Given the description of an element on the screen output the (x, y) to click on. 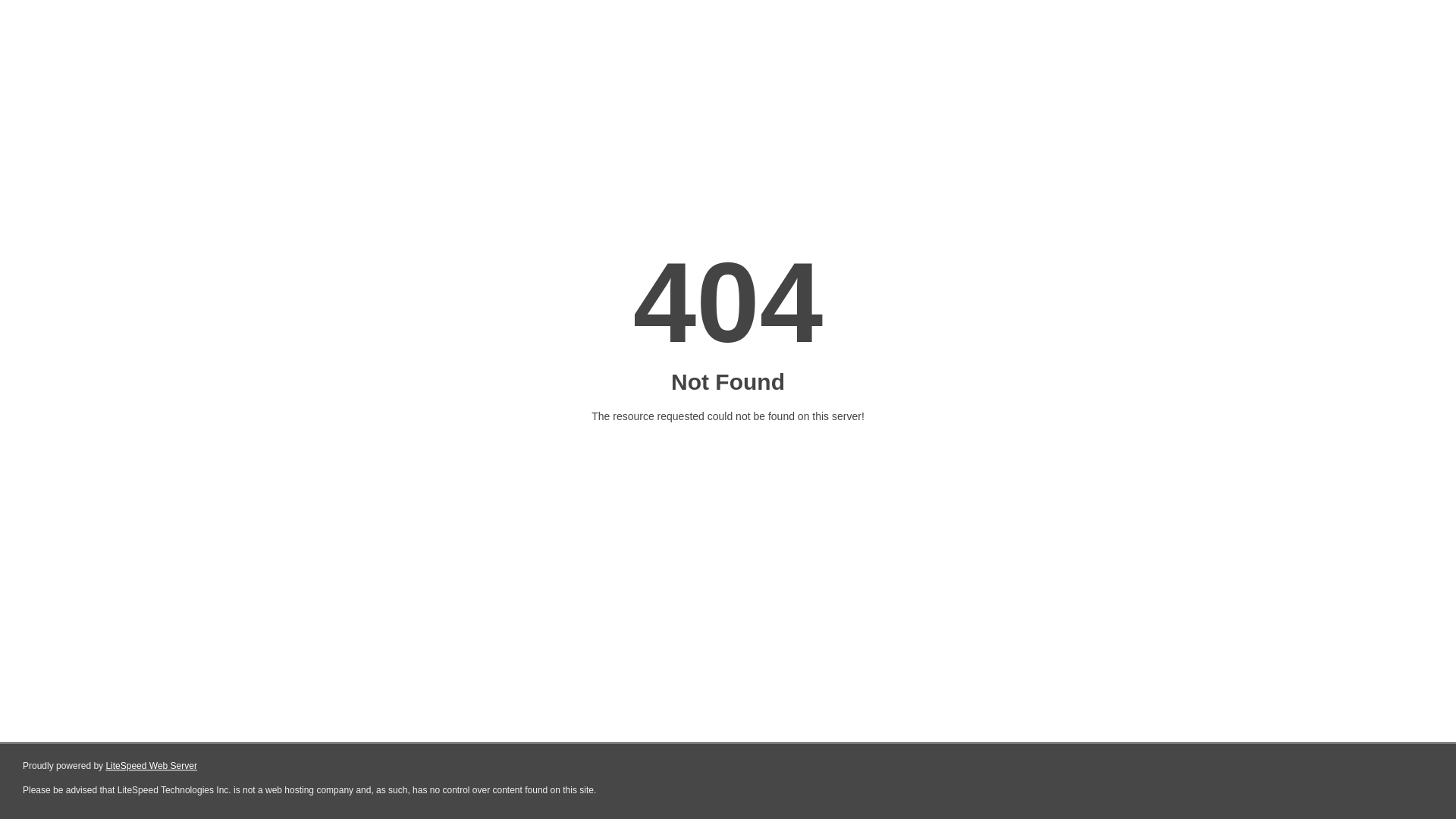
LiteSpeed Web Server Element type: text (151, 765)
